Given the description of an element on the screen output the (x, y) to click on. 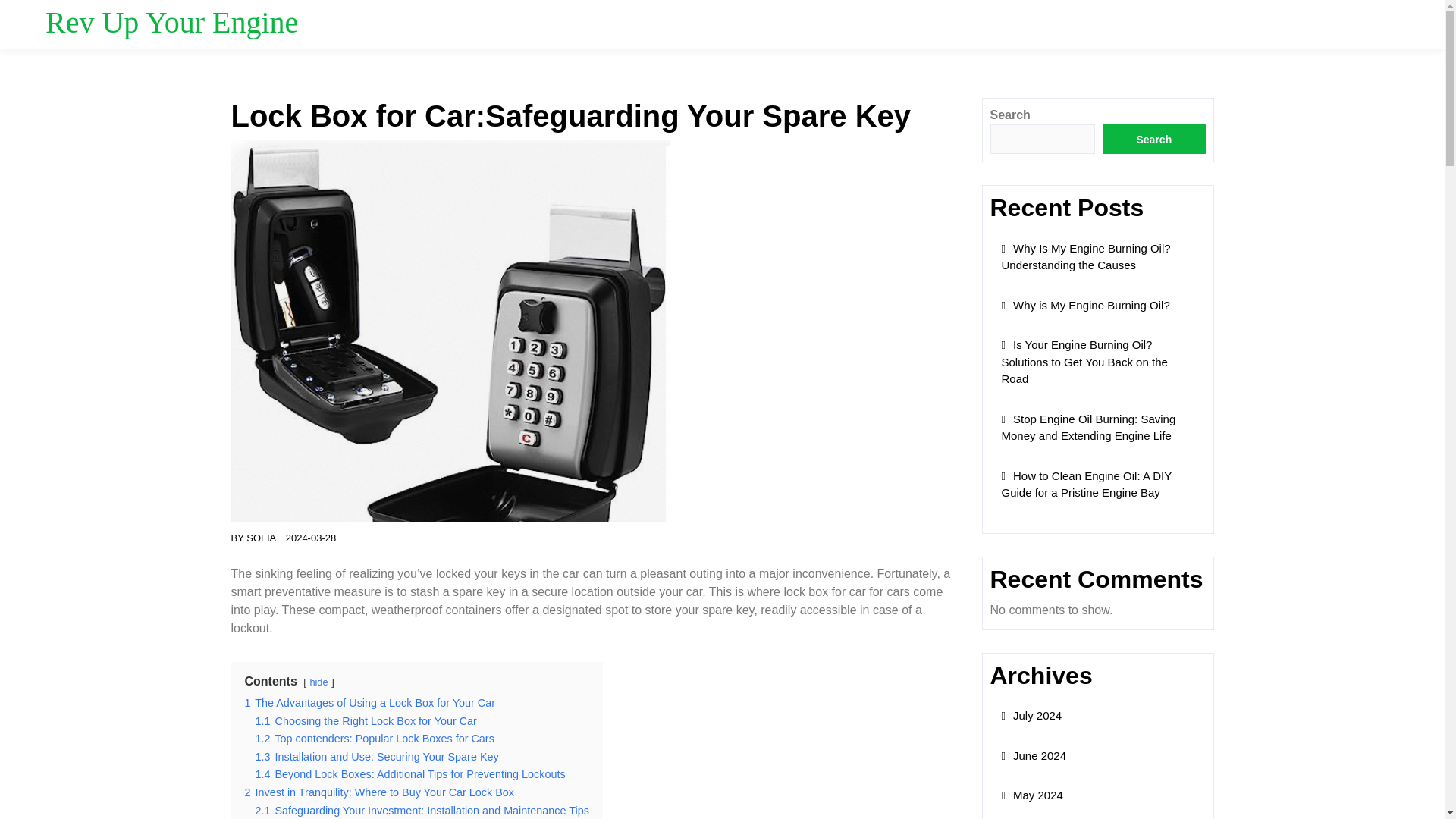
1 The Advantages of Using a Lock Box for Your Car (369, 702)
Rev Up Your Engine (171, 21)
May 2024 (1031, 794)
2 Invest in Tranquility: Where to Buy Your Car Lock Box (378, 792)
June 2024 (1033, 755)
1.1 Choosing the Right Lock Box for Your Car (365, 720)
July 2024 (1031, 715)
Search (1153, 138)
Why is My Engine Burning Oil? (1085, 305)
hide (317, 681)
SOFIA (261, 537)
1.3 Installation and Use: Securing Your Spare Key (375, 756)
